Given the description of an element on the screen output the (x, y) to click on. 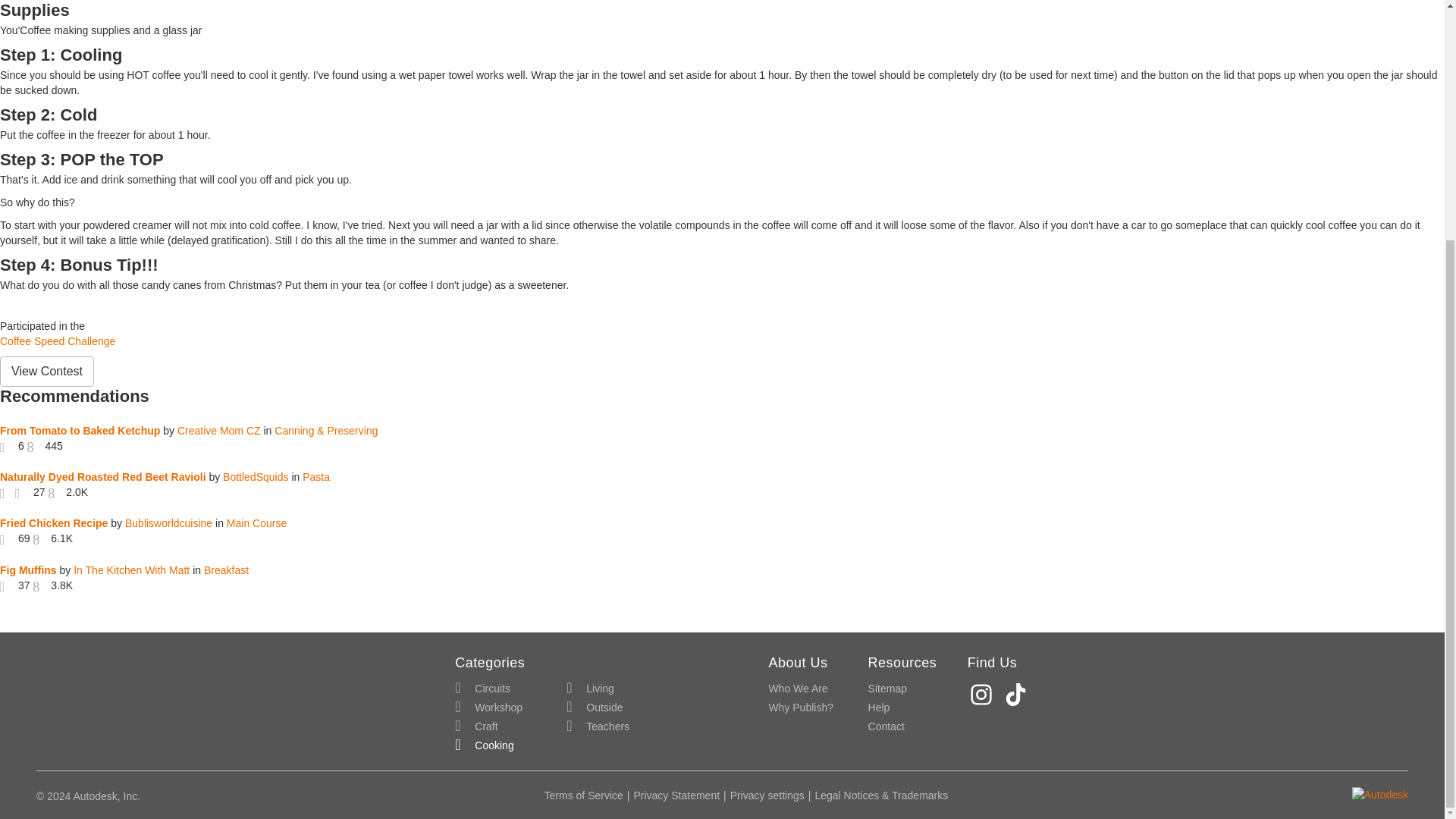
Favorites Count (7, 445)
Fig Muffins (28, 570)
Creative Mom CZ (218, 430)
From Tomato to Baked Ketchup (80, 430)
Bublisworldcuisine (168, 522)
Favorites Count (22, 491)
Views Count (55, 491)
Pasta (316, 476)
Instagram (983, 694)
Favorites Count (7, 538)
